Given the description of an element on the screen output the (x, y) to click on. 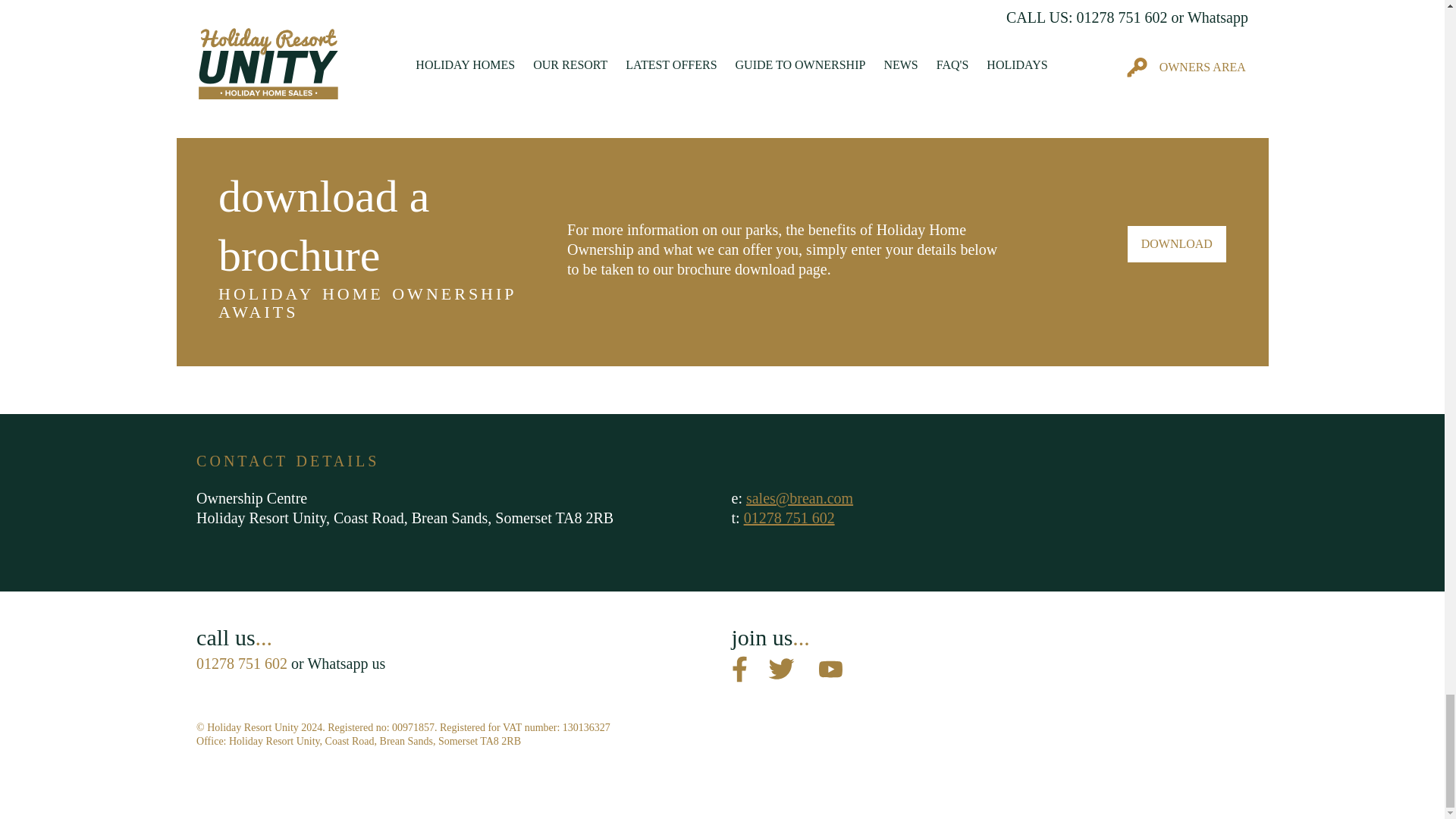
01278 751 602 (241, 663)
DOWNLOAD (1175, 244)
Whatsapp us (346, 663)
FIND OUT MORE (256, 37)
01278 751 602 (789, 517)
